Given the description of an element on the screen output the (x, y) to click on. 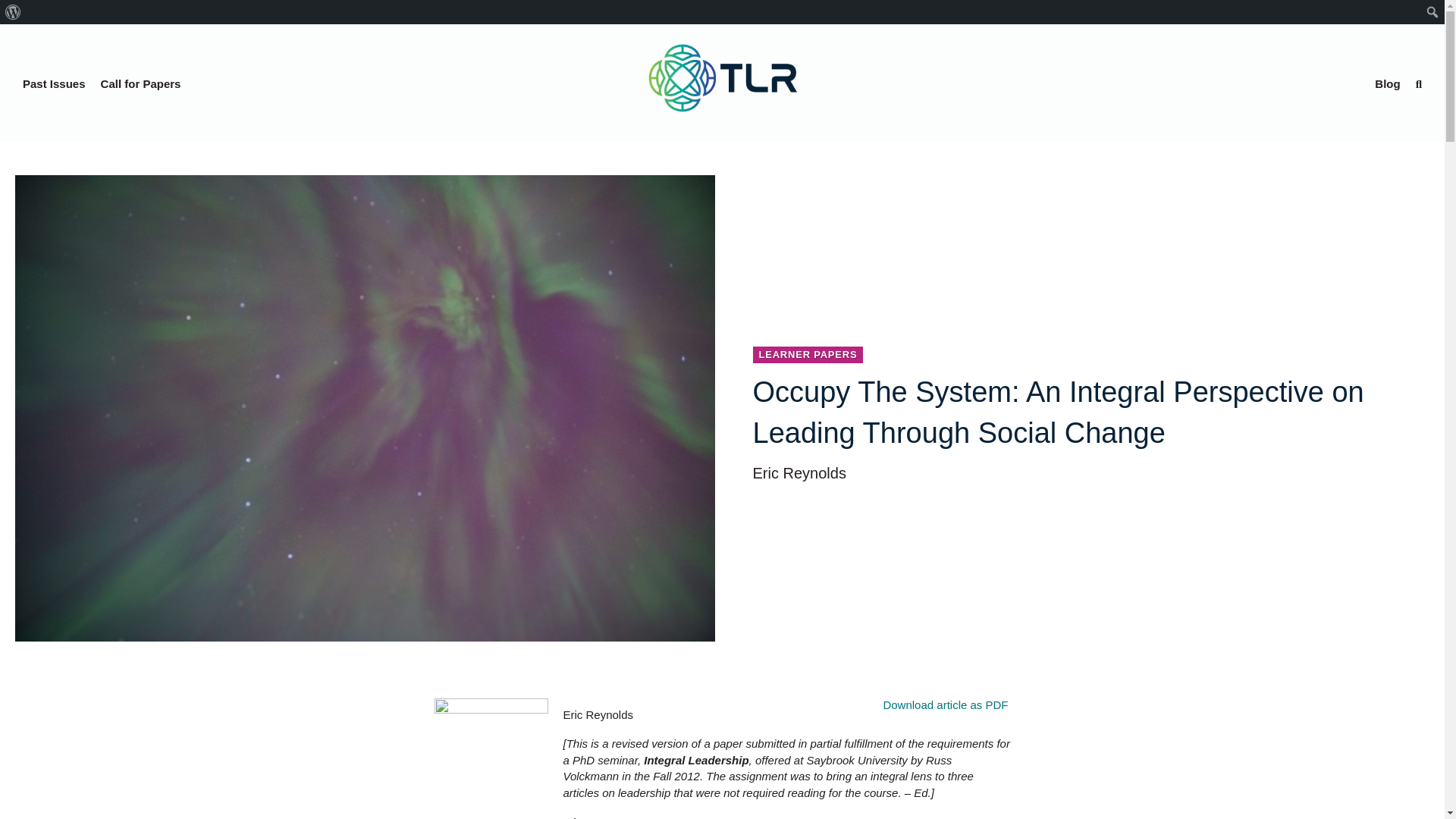
Past Issues (53, 83)
Eric Reynolds (490, 758)
Call for Papers (141, 83)
Download article as PDF (944, 704)
LEARNER PAPERS (807, 354)
Search (16, 12)
Blog (1387, 83)
